Given the description of an element on the screen output the (x, y) to click on. 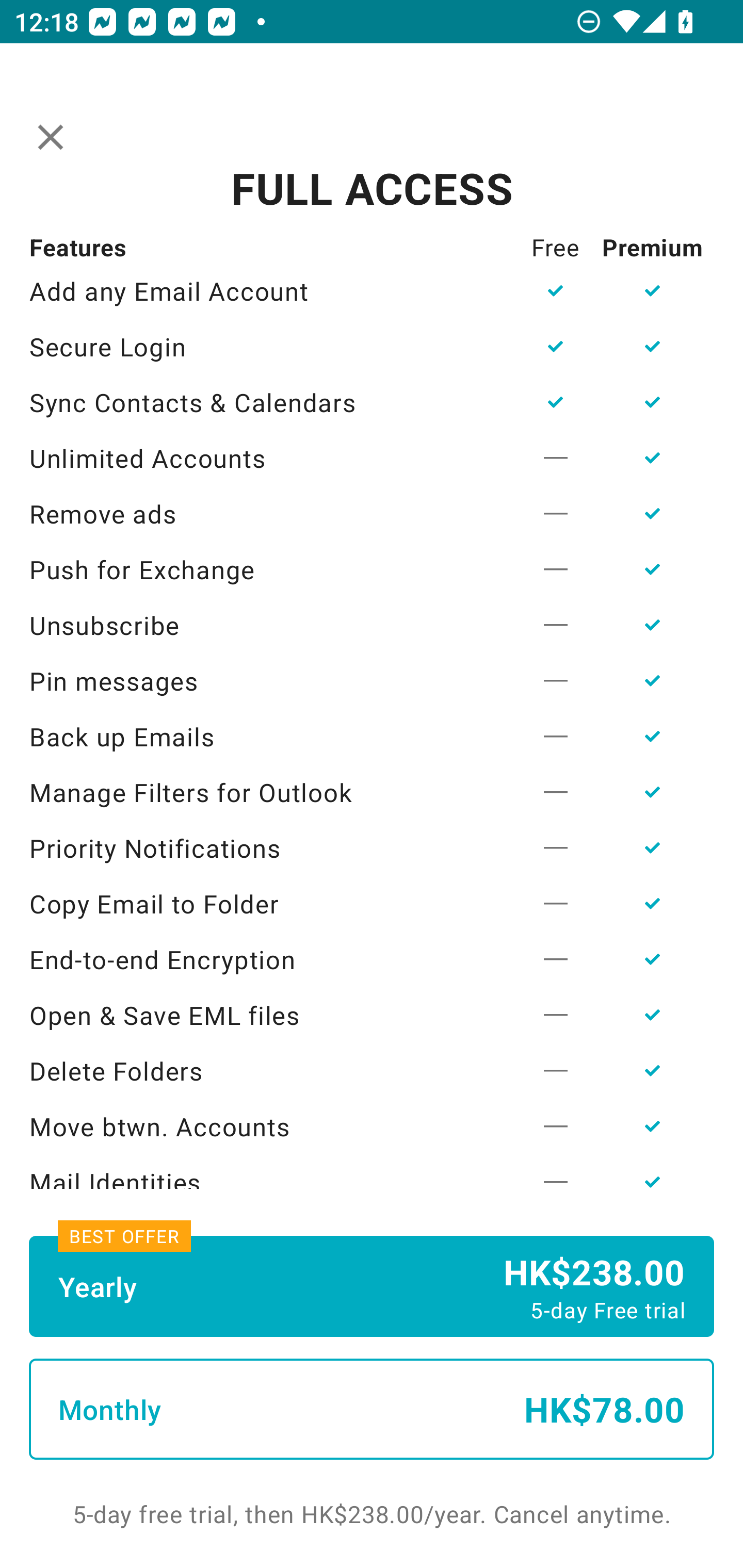
Yearly HK$238.00 5-day Free trial (371, 1286)
Monthly HK$78.00 (371, 1408)
